Given the description of an element on the screen output the (x, y) to click on. 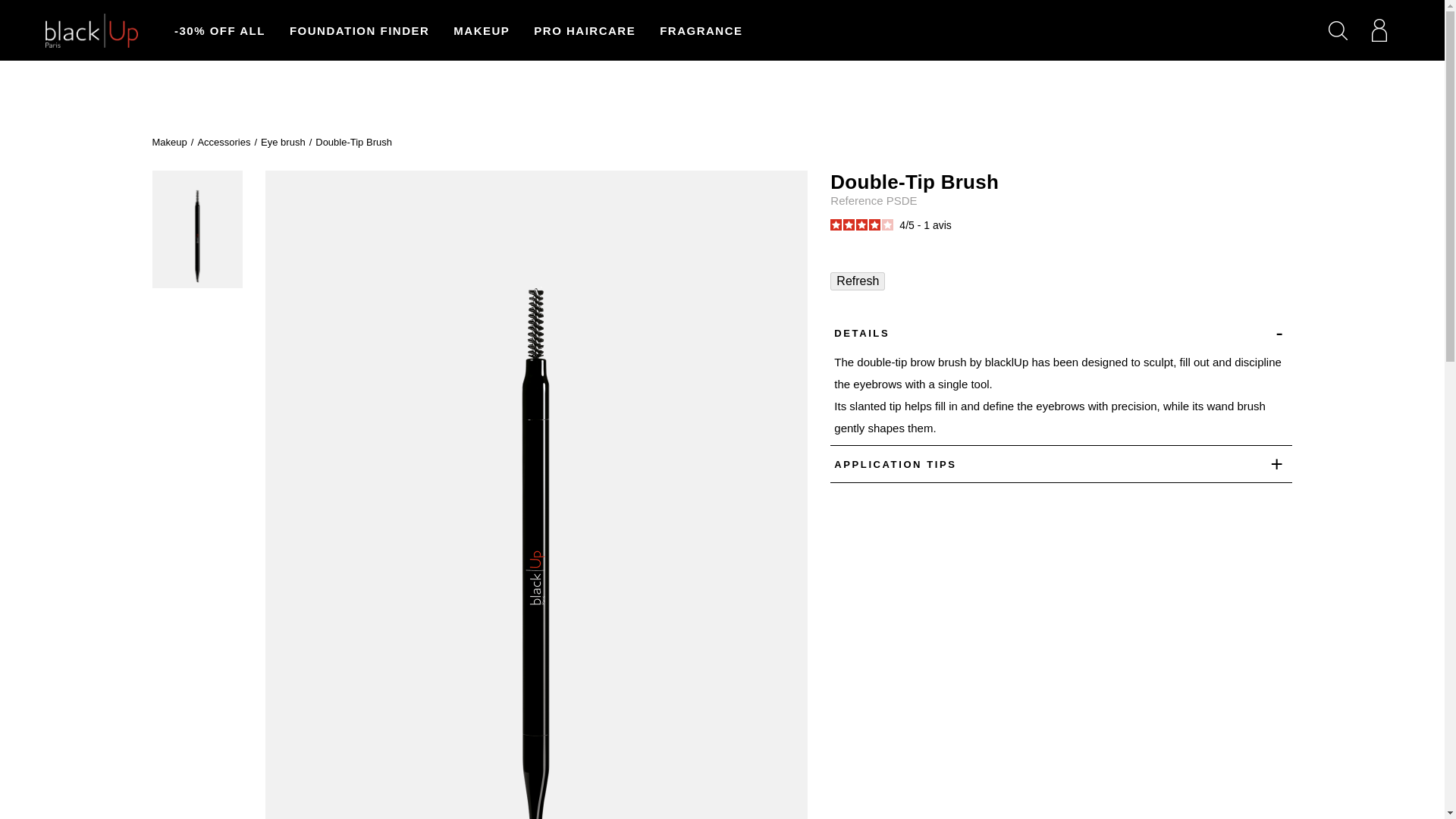
Refresh (857, 280)
Fragrance  (700, 30)
MAKEUP (480, 30)
Makeup (168, 142)
Accessories (223, 142)
FOUNDATION FINDER (359, 30)
PRO HAIRCARE (584, 30)
Pro Haircare (584, 30)
Refresh (857, 280)
Foundation Finder (359, 30)
